Given the description of an element on the screen output the (x, y) to click on. 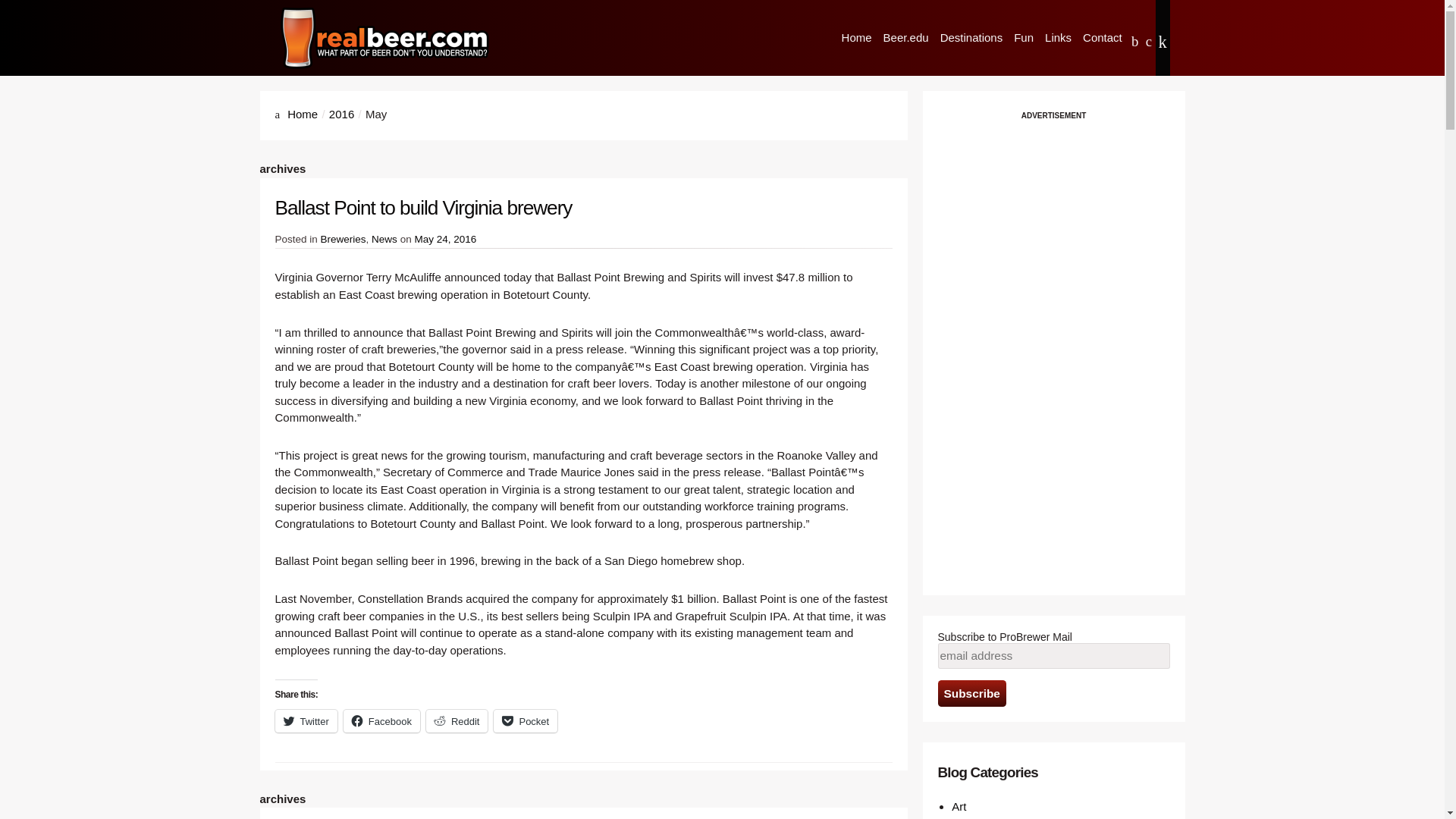
12:30 pm (444, 238)
Ballast Point to build Virginia brewery (423, 207)
May 24, 2016 (444, 238)
Click to share on Facebook (381, 721)
Click to share on Pocket (525, 721)
Reddit (456, 721)
Breweries (343, 238)
Destinations (971, 38)
Subscribe (971, 693)
Home (301, 113)
